Given the description of an element on the screen output the (x, y) to click on. 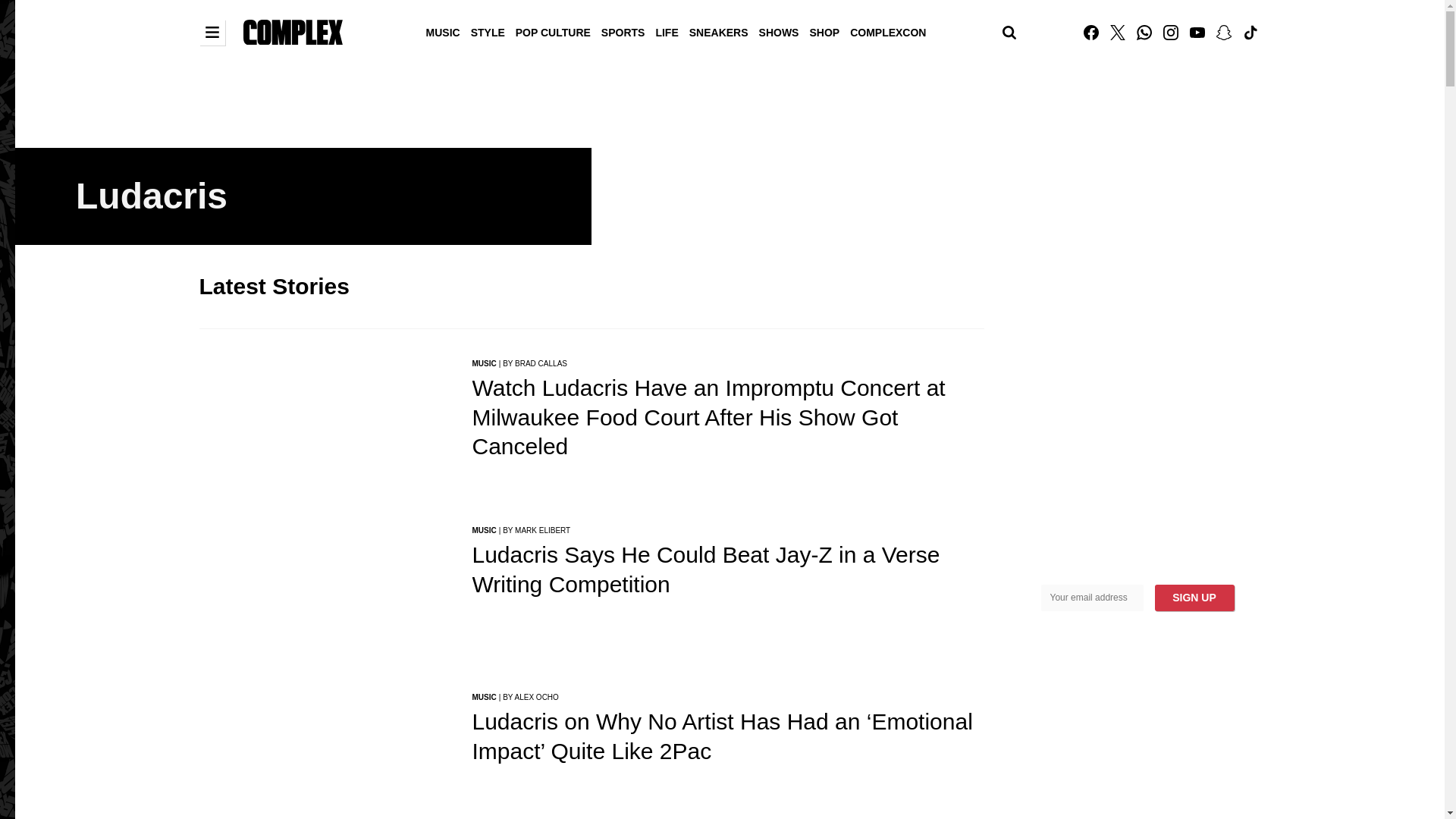
MUSIC (442, 30)
SPORTS (622, 30)
SHOWS (779, 30)
SNEAKERS (719, 30)
STYLE (488, 30)
POP CULTURE (553, 30)
LIFE (665, 30)
SHOP (823, 30)
COMPLEXCON (887, 30)
